Given the description of an element on the screen output the (x, y) to click on. 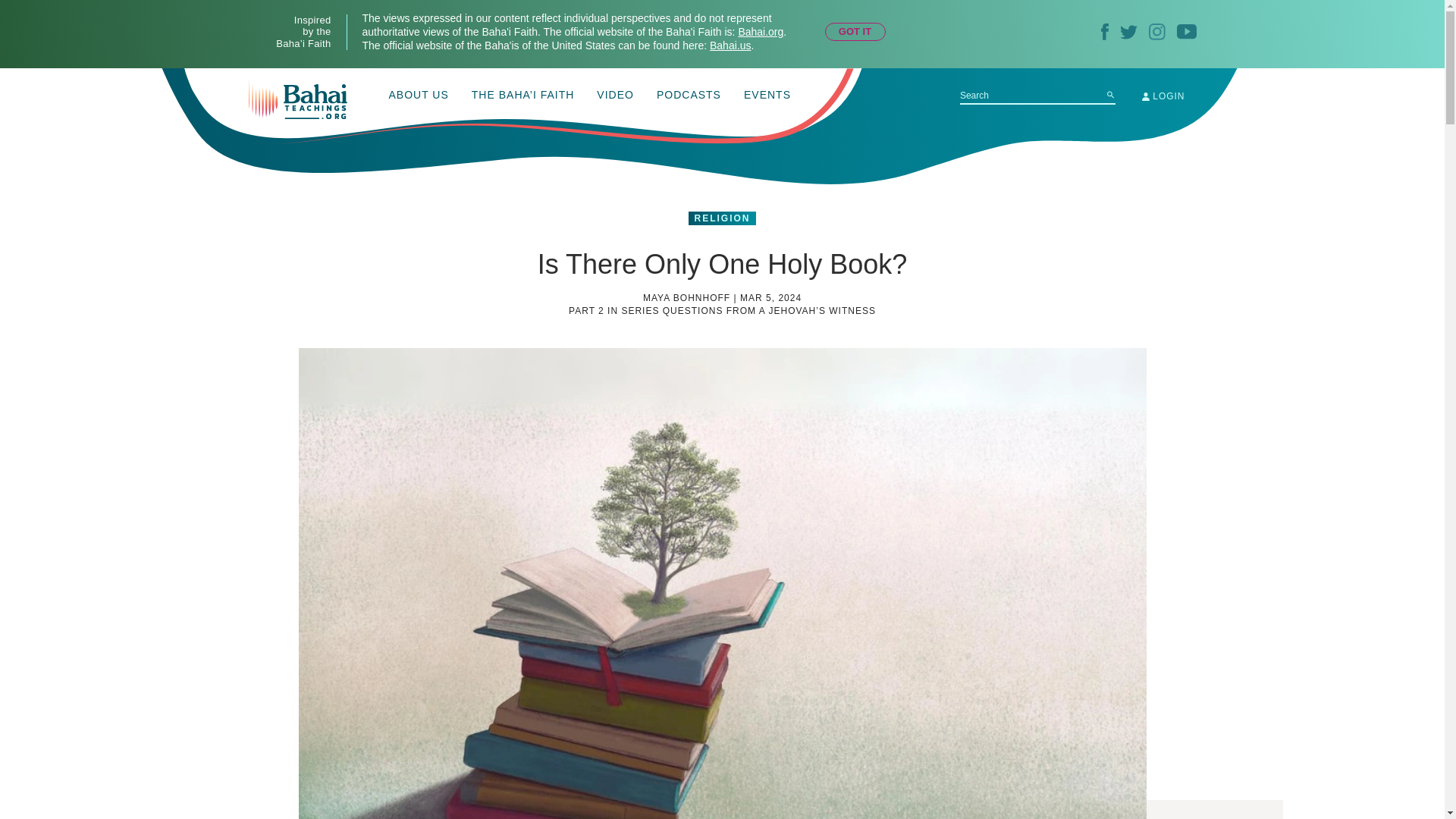
ABOUT US (418, 96)
LOGIN (1163, 95)
GOT IT (855, 31)
Search for: (1037, 95)
EVENTS (767, 96)
RELIGION (721, 218)
Bahai.org (760, 31)
PODCASTS (688, 96)
VIDEO (614, 96)
Bahai.us (730, 45)
